Given the description of an element on the screen output the (x, y) to click on. 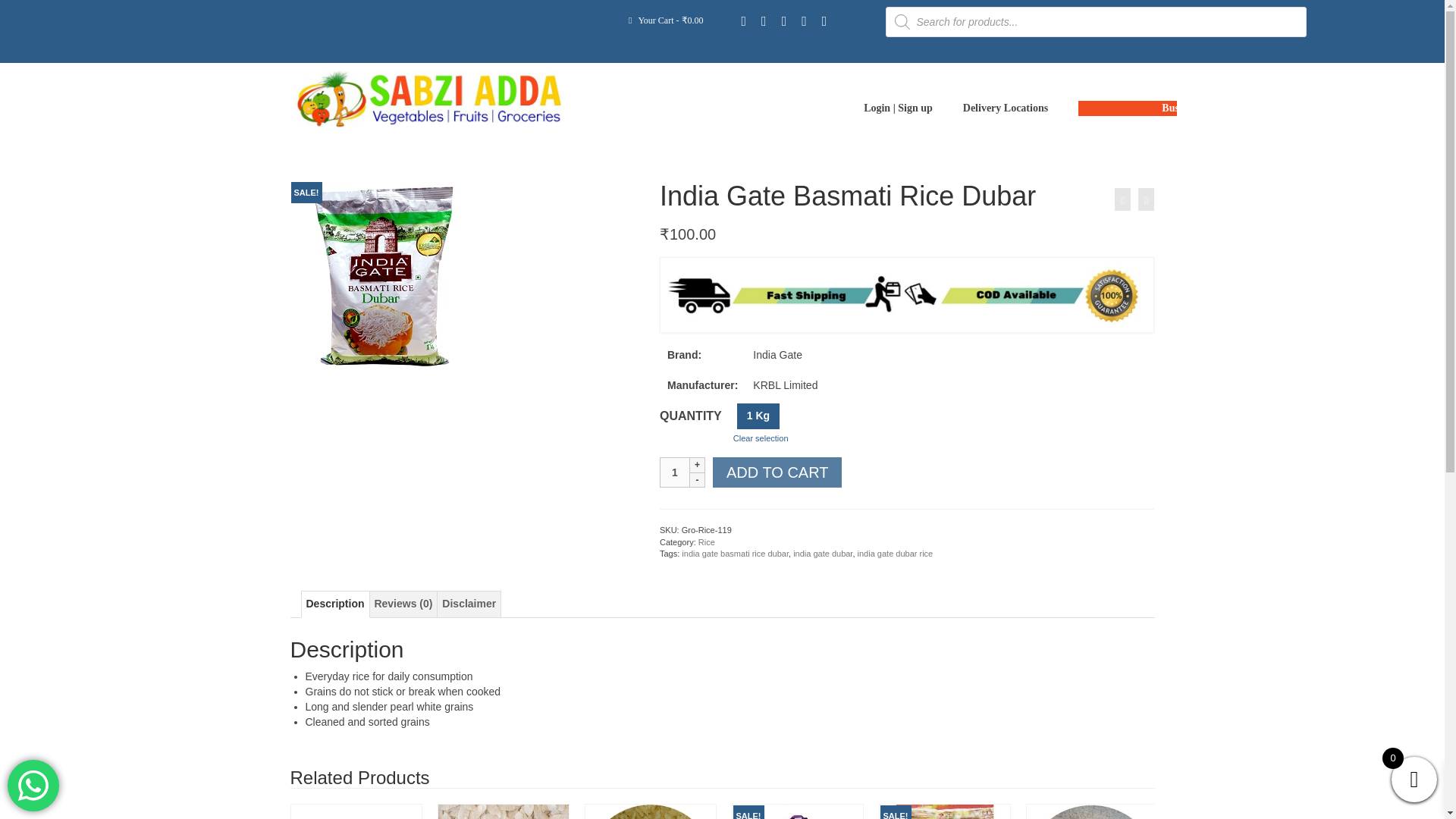
- (697, 479)
Business Opportunity (1127, 110)
Beverages (788, 153)
1 (674, 472)
Delivery Locations (1004, 108)
Sabzi Adda (428, 99)
View your shopping cart (666, 20)
Personal Care (931, 153)
